Given the description of an element on the screen output the (x, y) to click on. 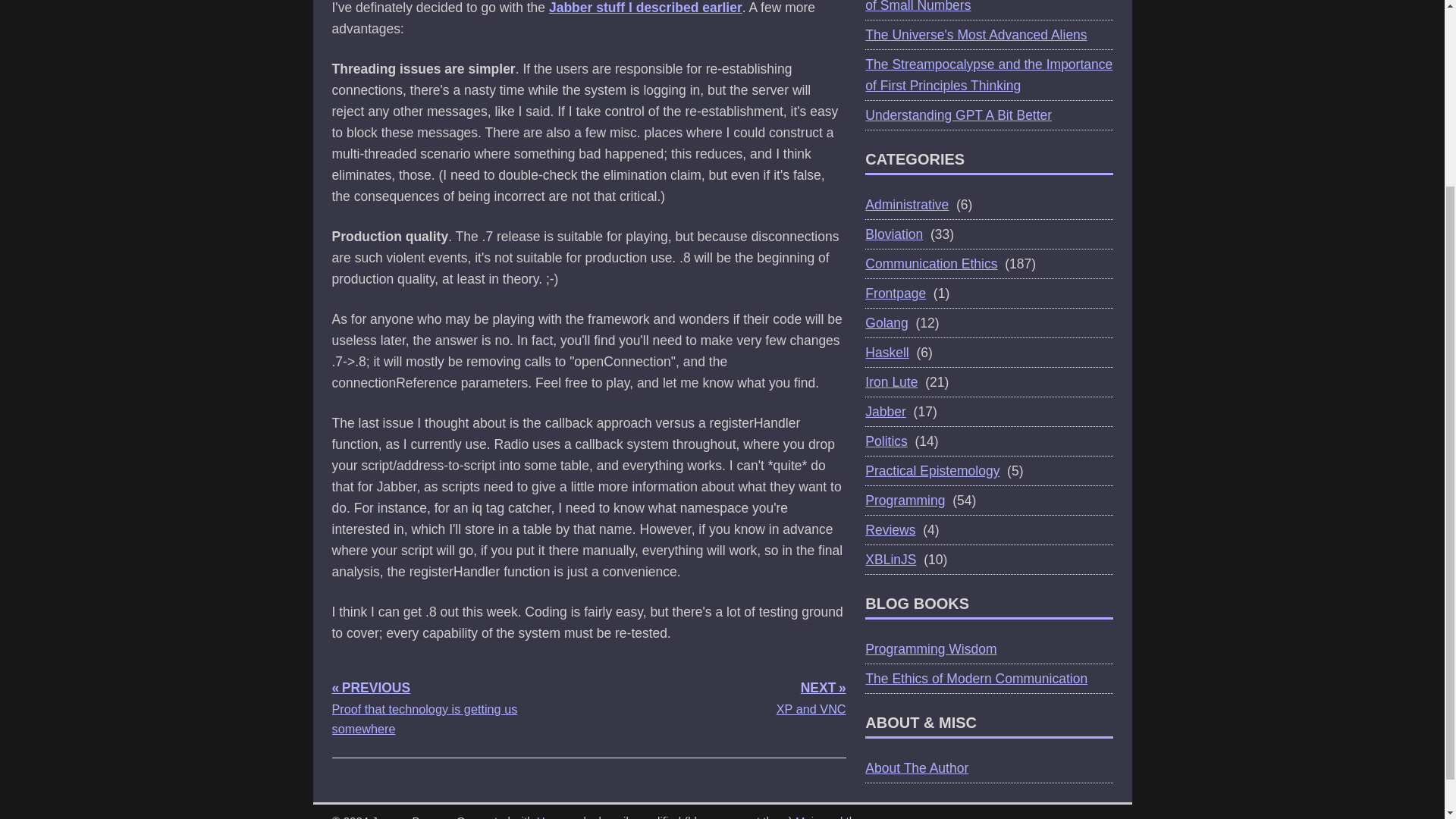
Iron Lute (890, 381)
Reviews (889, 529)
Haskell (886, 352)
About The Author (916, 767)
Jabber stuff I described earlier (645, 7)
Frontpage (895, 293)
Administrative (906, 204)
Practical Epistemology (931, 470)
Bloviation (893, 233)
The Ethics of Modern Communication (975, 678)
Golang (885, 322)
The Universe's Most Advanced Aliens (975, 34)
Programming Wisdom (929, 648)
Understanding GPT A Bit Better (957, 114)
XBLinJS (889, 559)
